Given the description of an element on the screen output the (x, y) to click on. 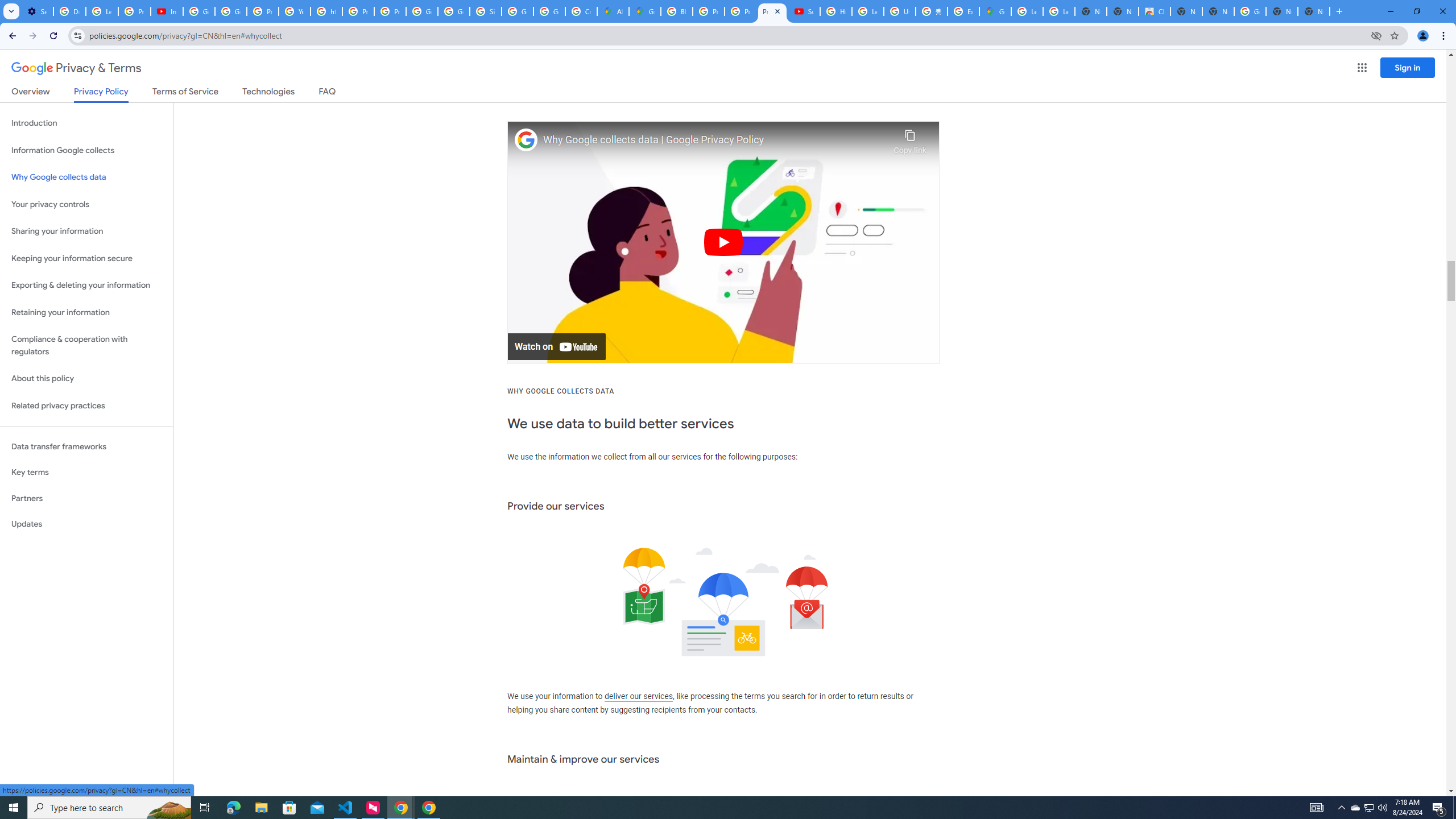
Your privacy controls (86, 204)
Sign in - Google Accounts (485, 11)
Copy link (909, 139)
How Chrome protects your passwords - Google Chrome Help (836, 11)
